Given the description of an element on the screen output the (x, y) to click on. 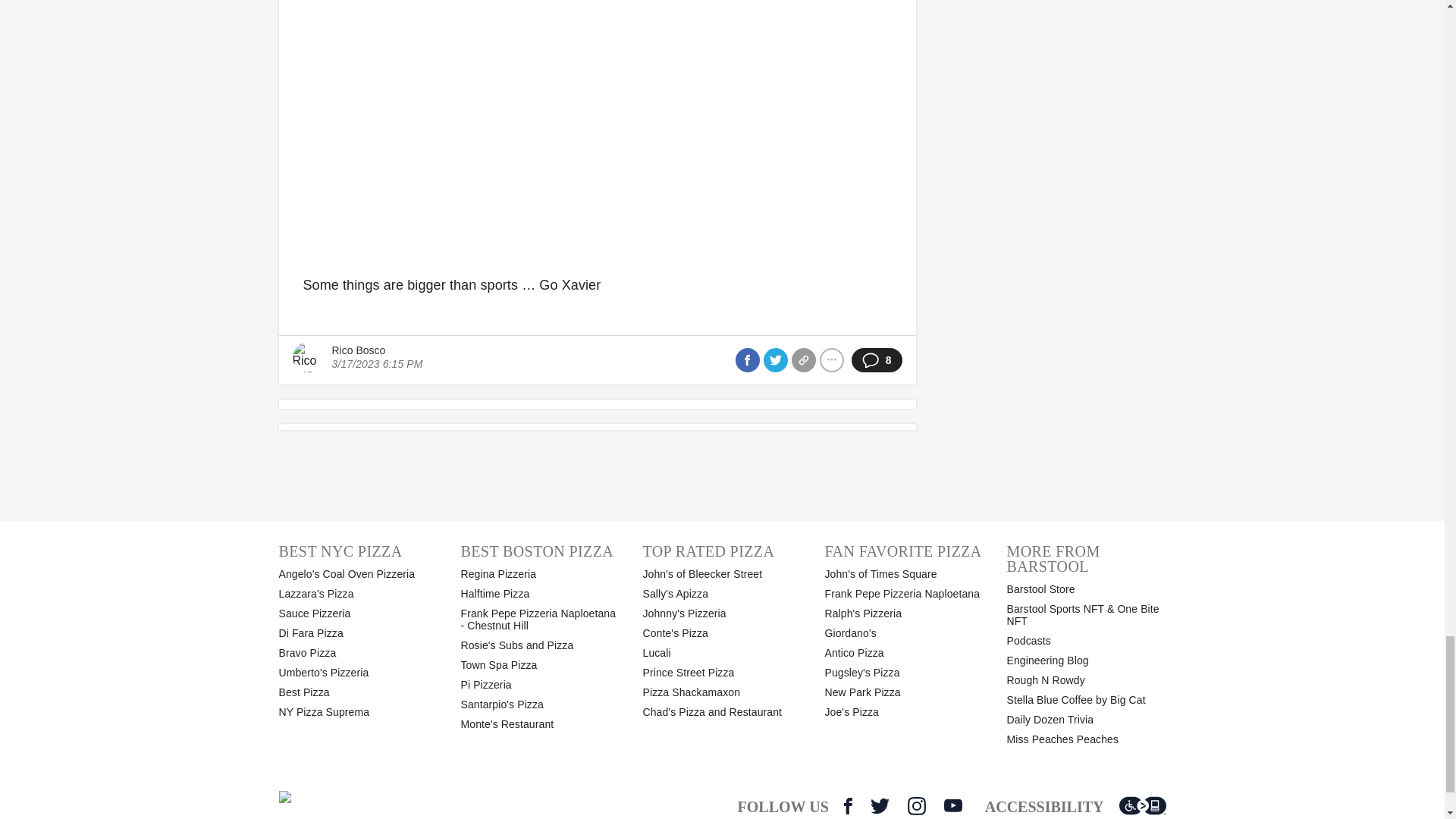
Instagram Icon (916, 805)
YouTube Icon (952, 805)
Twitter Icon (879, 805)
Facebook Icon (847, 805)
Level Access website accessibility icon (1142, 805)
